Given the description of an element on the screen output the (x, y) to click on. 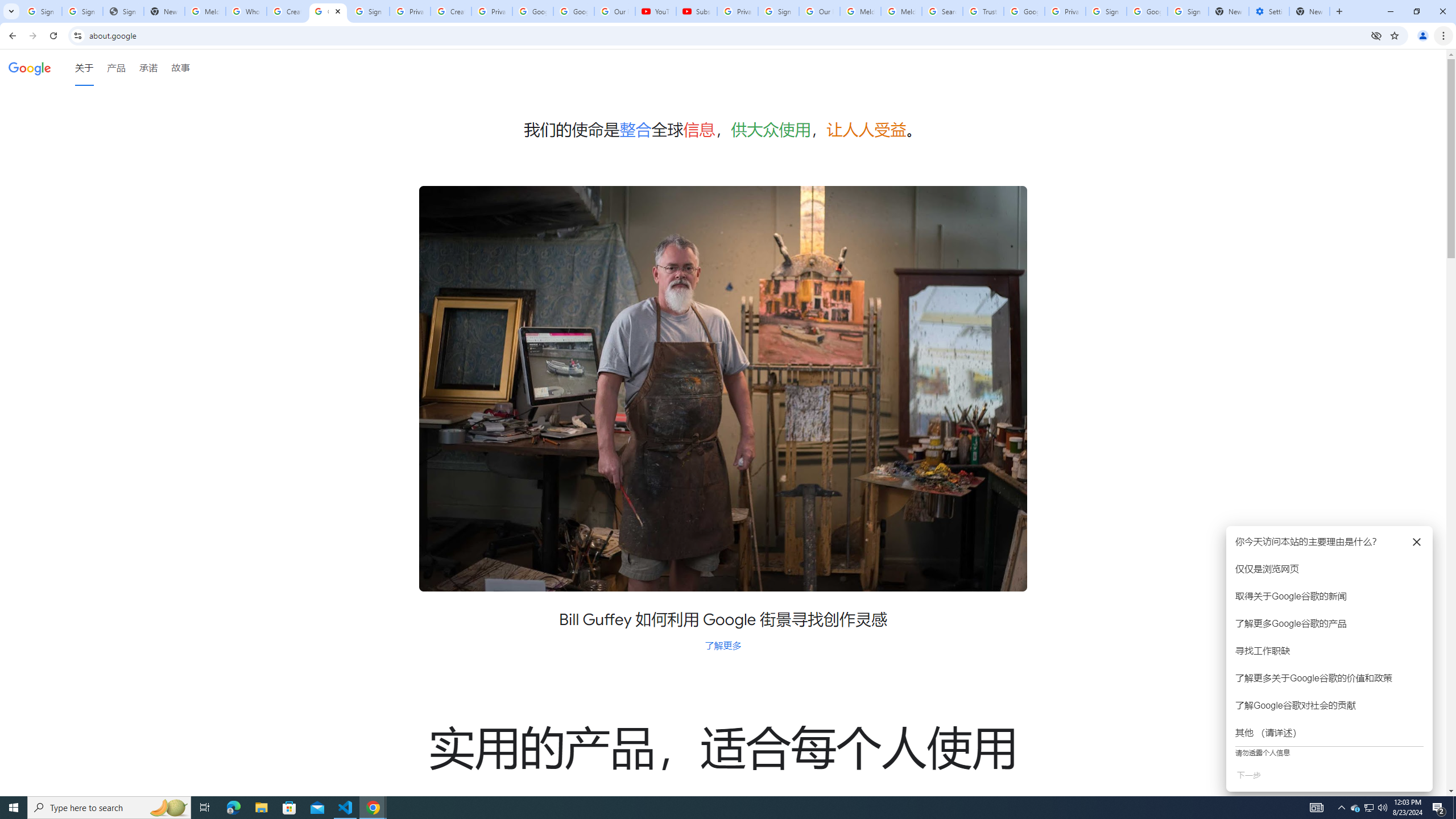
Sign in - Google Accounts (1187, 11)
Google Cybersecurity Innovations - Google Safety Center (1146, 11)
Settings - Addresses and more (1268, 11)
YouTube (655, 11)
Trusted Information and Content - Google Safety Center (983, 11)
Create your Google Account (450, 11)
